Given the description of an element on the screen output the (x, y) to click on. 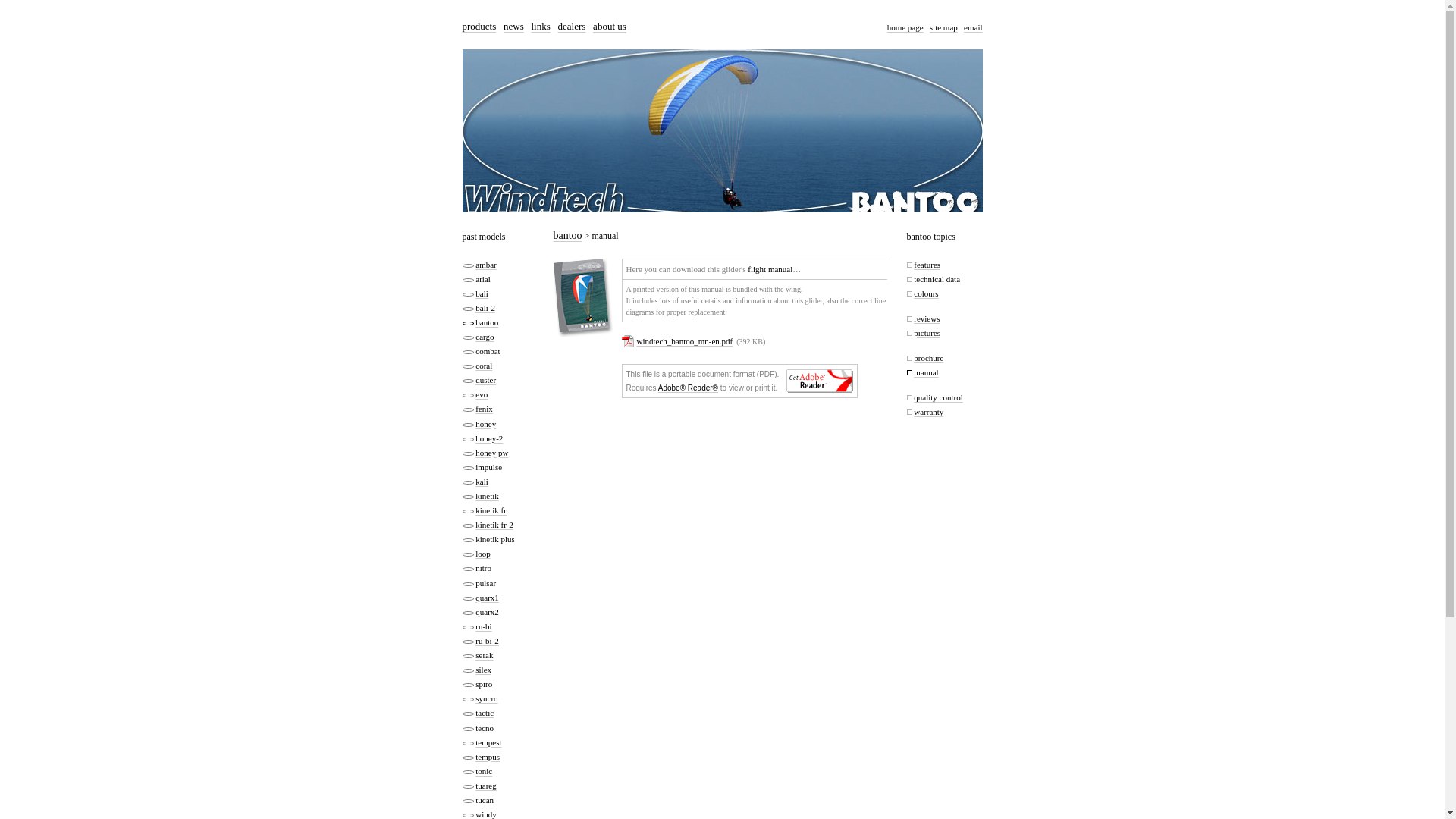
dealers (571, 25)
quarx2 (487, 611)
email (972, 26)
fenix (484, 408)
products (479, 25)
impulse (489, 466)
loop (483, 552)
home page (904, 26)
ambar (486, 263)
about us (609, 25)
nitro (484, 567)
honey-2 (489, 438)
news (513, 25)
honey pw (492, 452)
bantoo (567, 234)
